Given the description of an element on the screen output the (x, y) to click on. 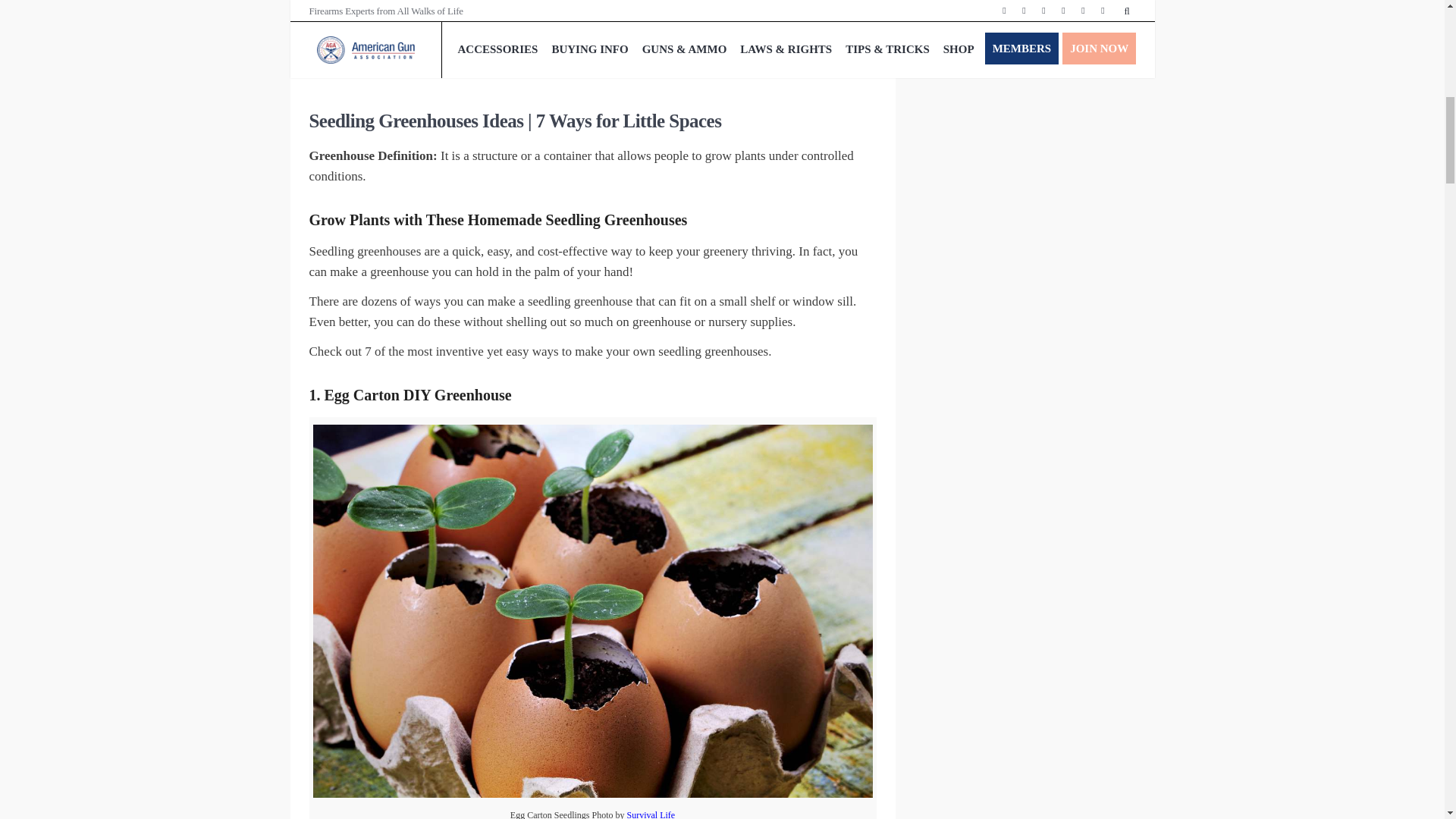
Survival Life (650, 814)
1.6 5. Mason Jar Greenhouse (408, 7)
1.8 7. Clear Plastic Greenhouse (415, 51)
1.7 6. Plastic-Wrapped Greenhouse (424, 29)
